Given the description of an element on the screen output the (x, y) to click on. 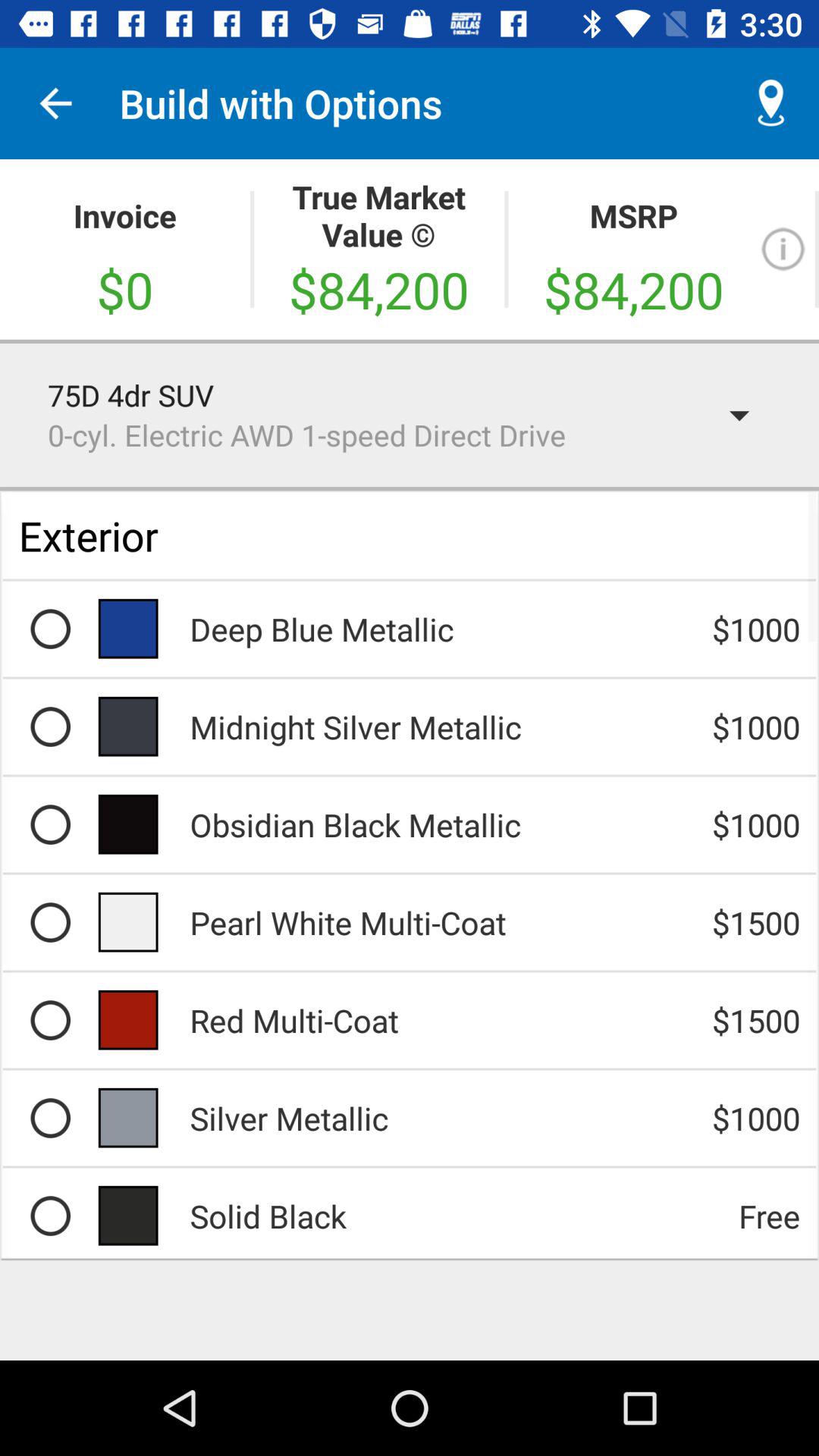
select the round (50, 1020)
